Given the description of an element on the screen output the (x, y) to click on. 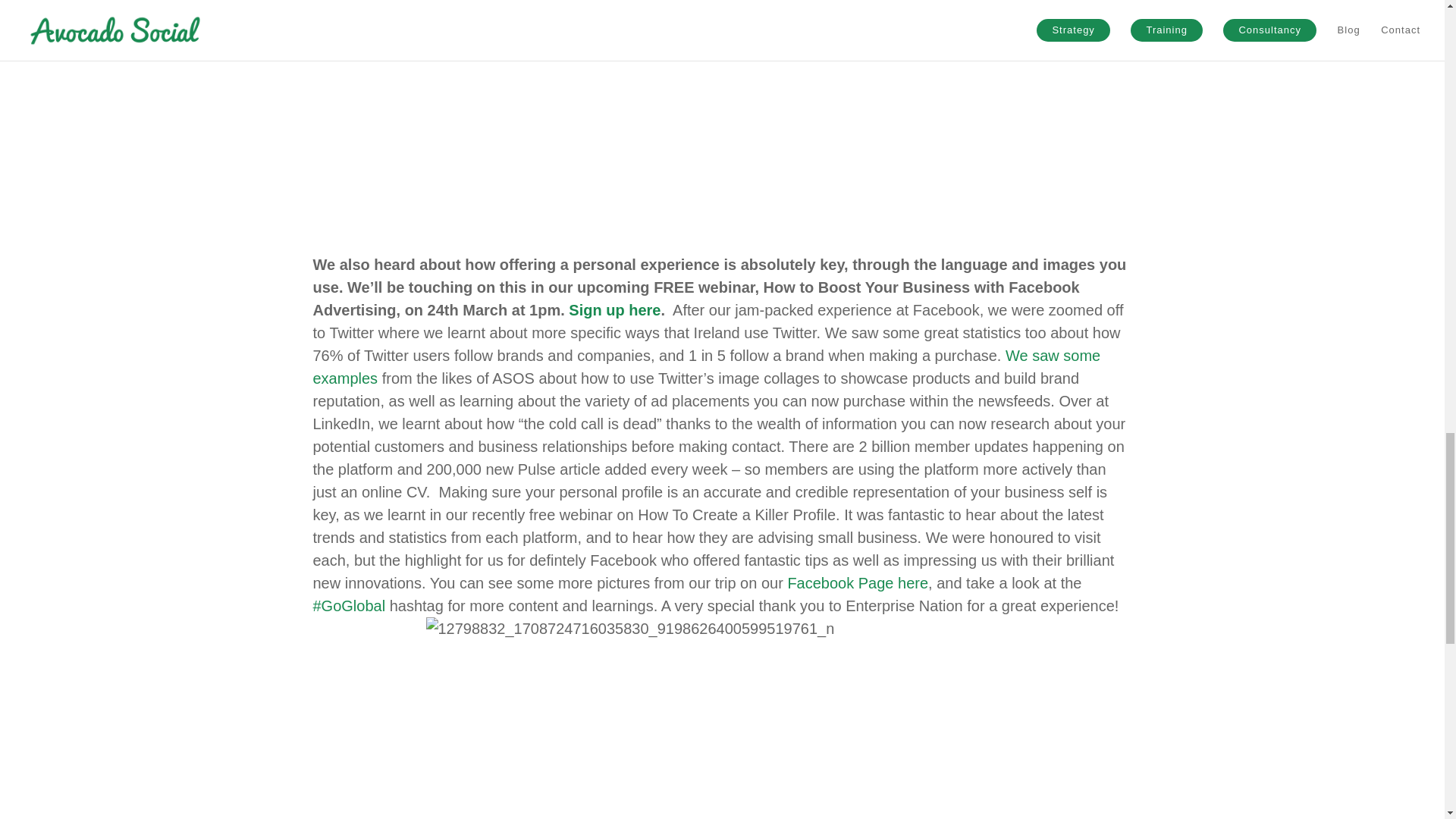
Sign up here (615, 310)
Facebook Page here (857, 582)
We saw some examples (706, 366)
